Given the description of an element on the screen output the (x, y) to click on. 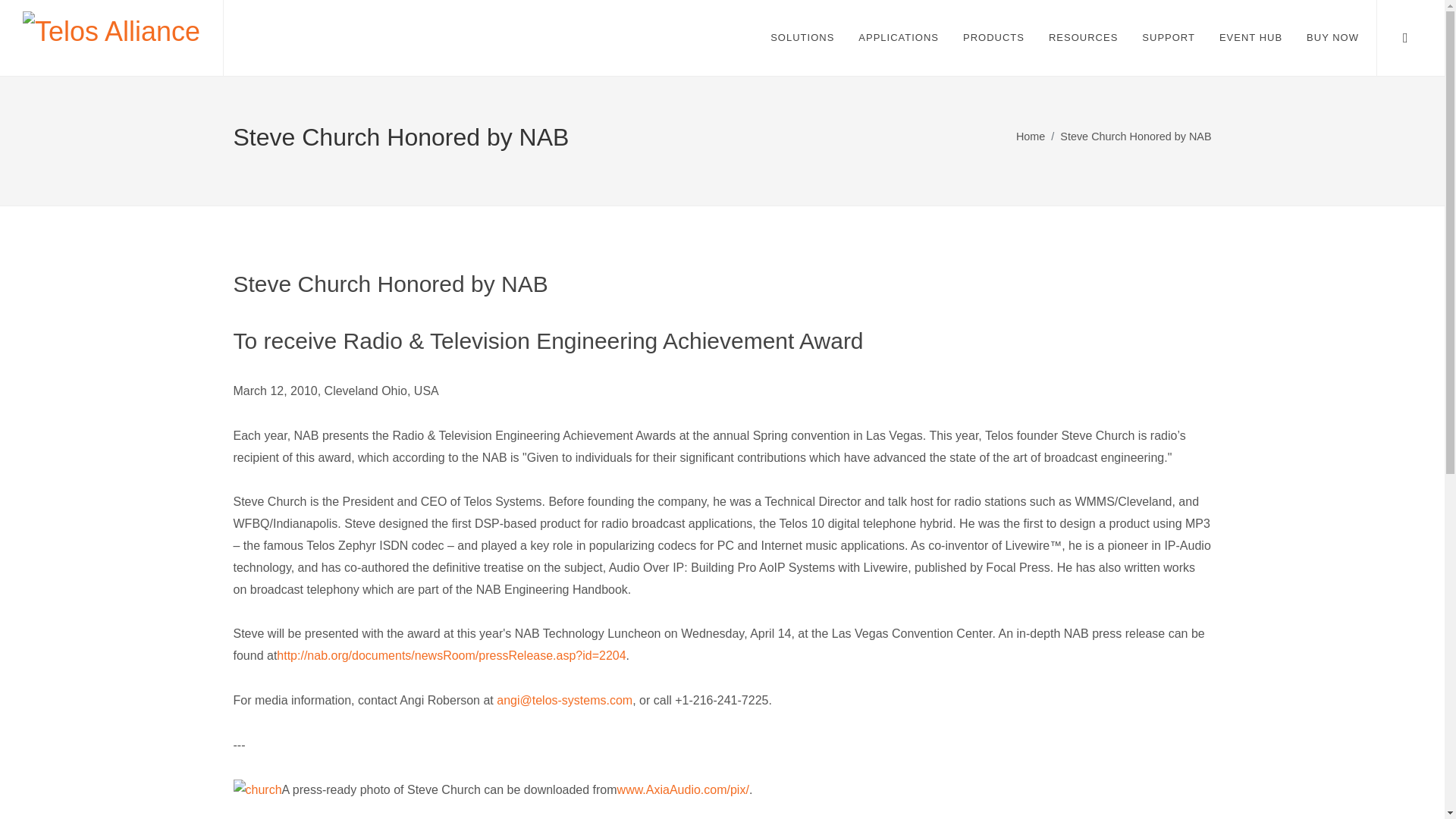
APPLICATIONS (898, 38)
SOLUTIONS (801, 38)
